Given the description of an element on the screen output the (x, y) to click on. 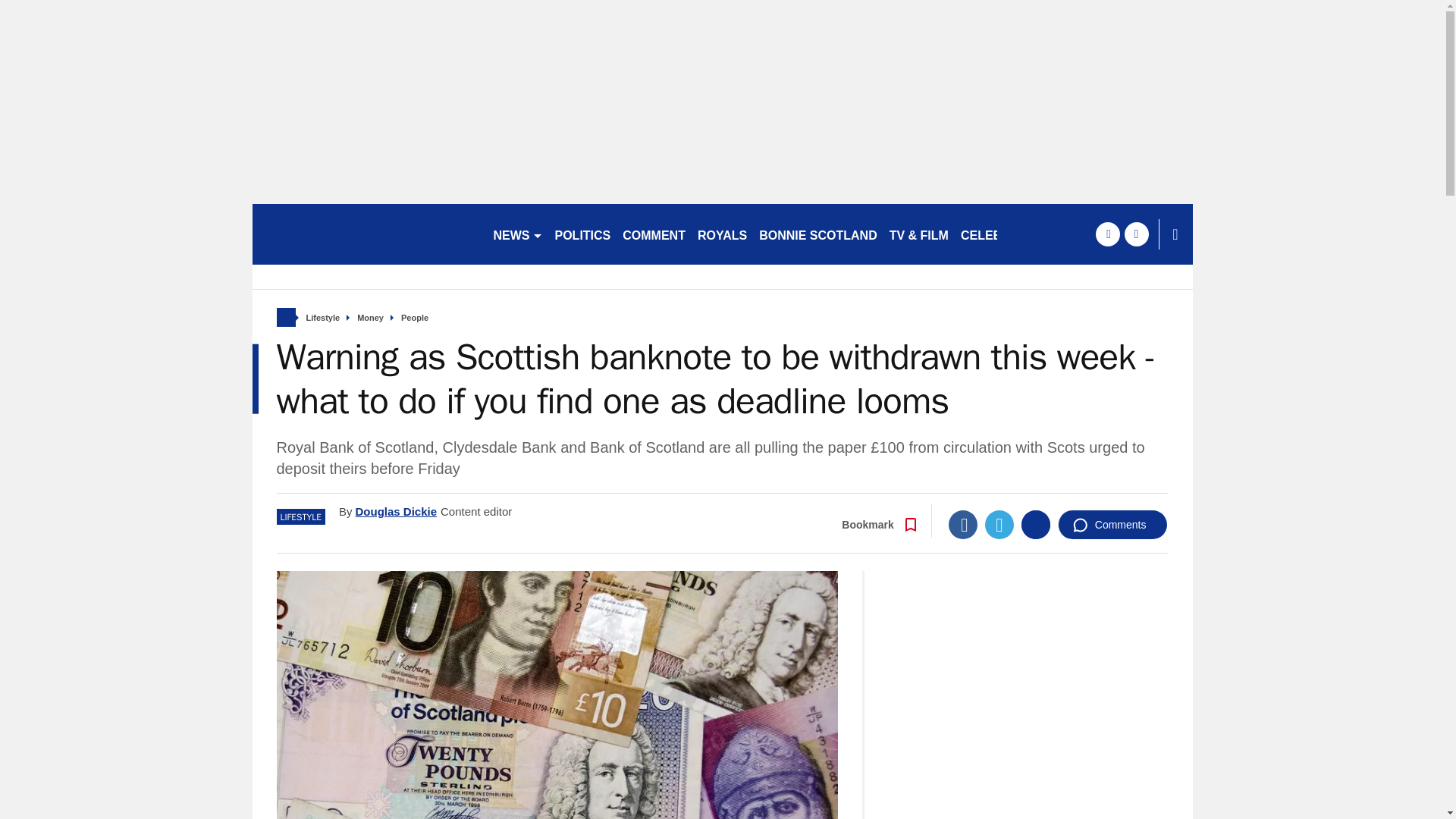
BONNIE SCOTLAND (817, 233)
scottishdailyexpress (365, 233)
Comments (1112, 524)
facebook (1106, 233)
CELEBS (985, 233)
Twitter (999, 524)
ROYALS (721, 233)
NEWS (517, 233)
POLITICS (582, 233)
twitter (1136, 233)
